Given the description of an element on the screen output the (x, y) to click on. 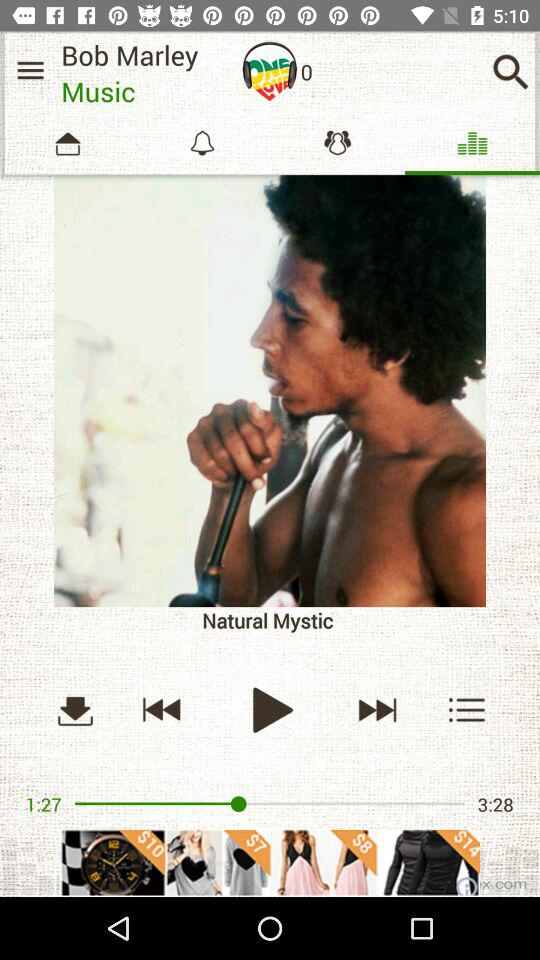
play button (269, 709)
